Given the description of an element on the screen output the (x, y) to click on. 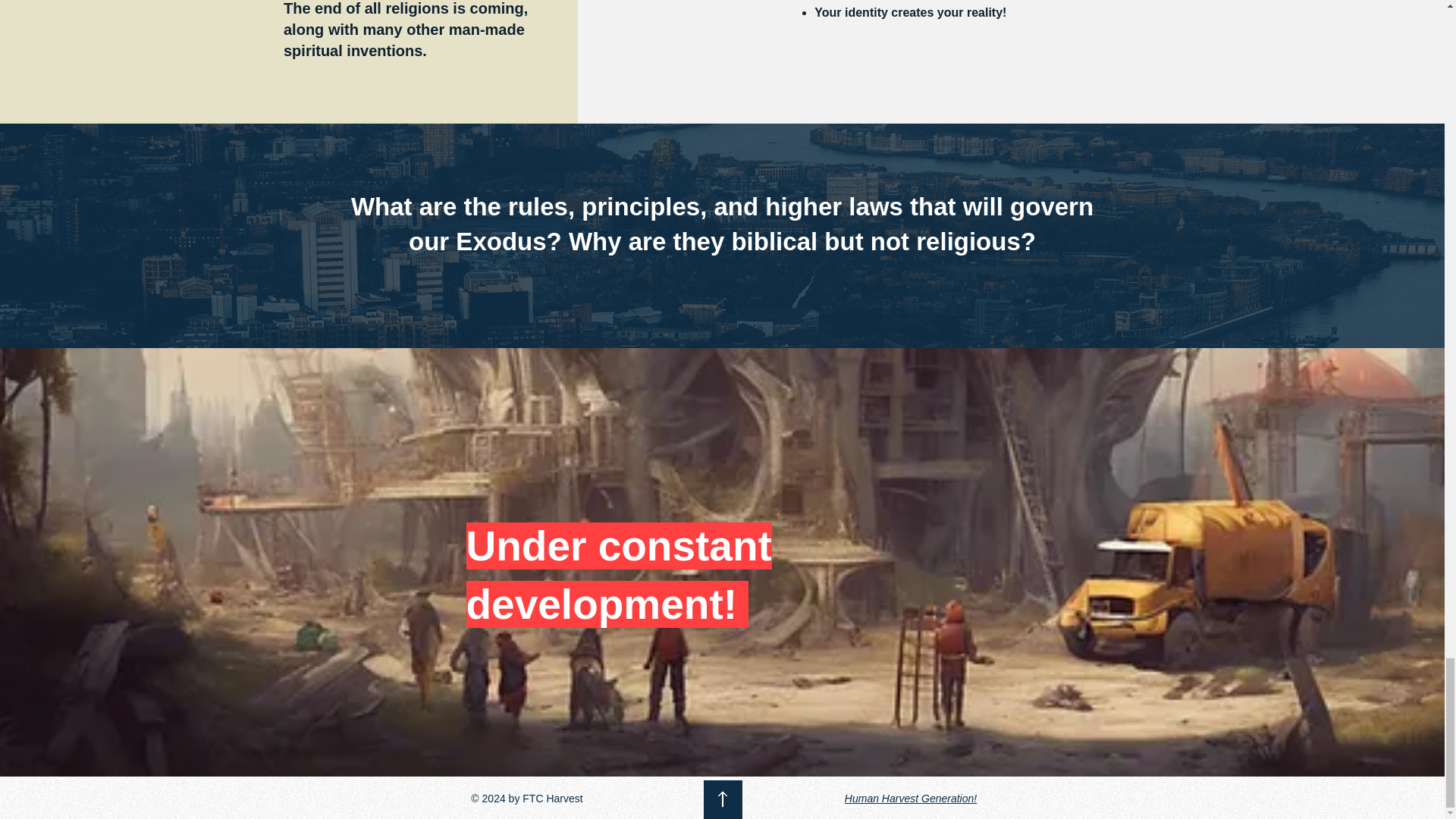
Human Harvest Generation! (910, 798)
